Given the description of an element on the screen output the (x, y) to click on. 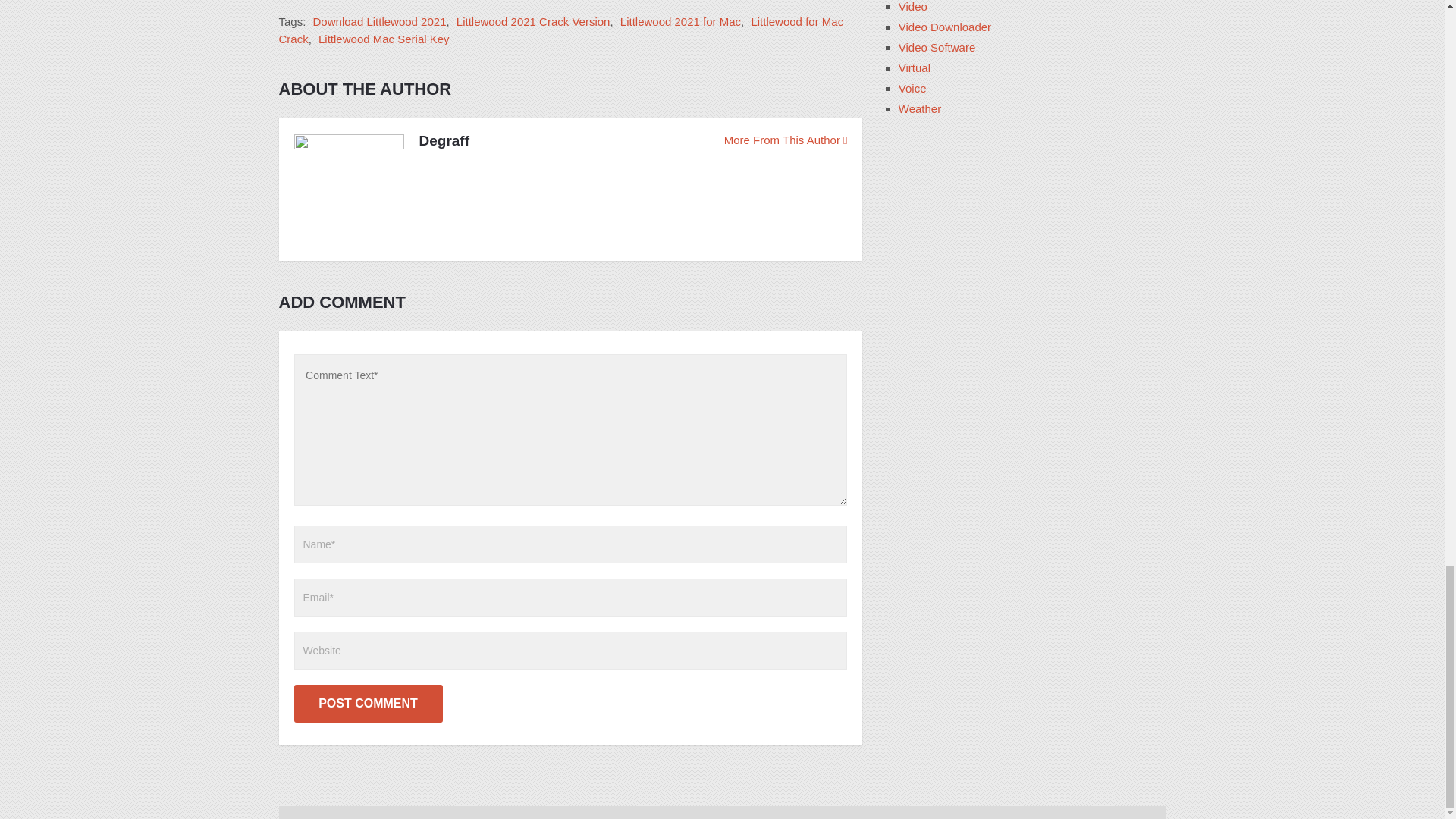
Post Comment (368, 703)
Download Littlewood 2021 (379, 21)
Littlewood Mac Serial Key (383, 38)
Degraff (443, 140)
Littlewood 2021 for Mac (680, 21)
Littlewood for Mac Crack (561, 30)
More From This Author (785, 139)
Post Comment (368, 703)
Littlewood 2021 Crack Version (533, 21)
